Given the description of an element on the screen output the (x, y) to click on. 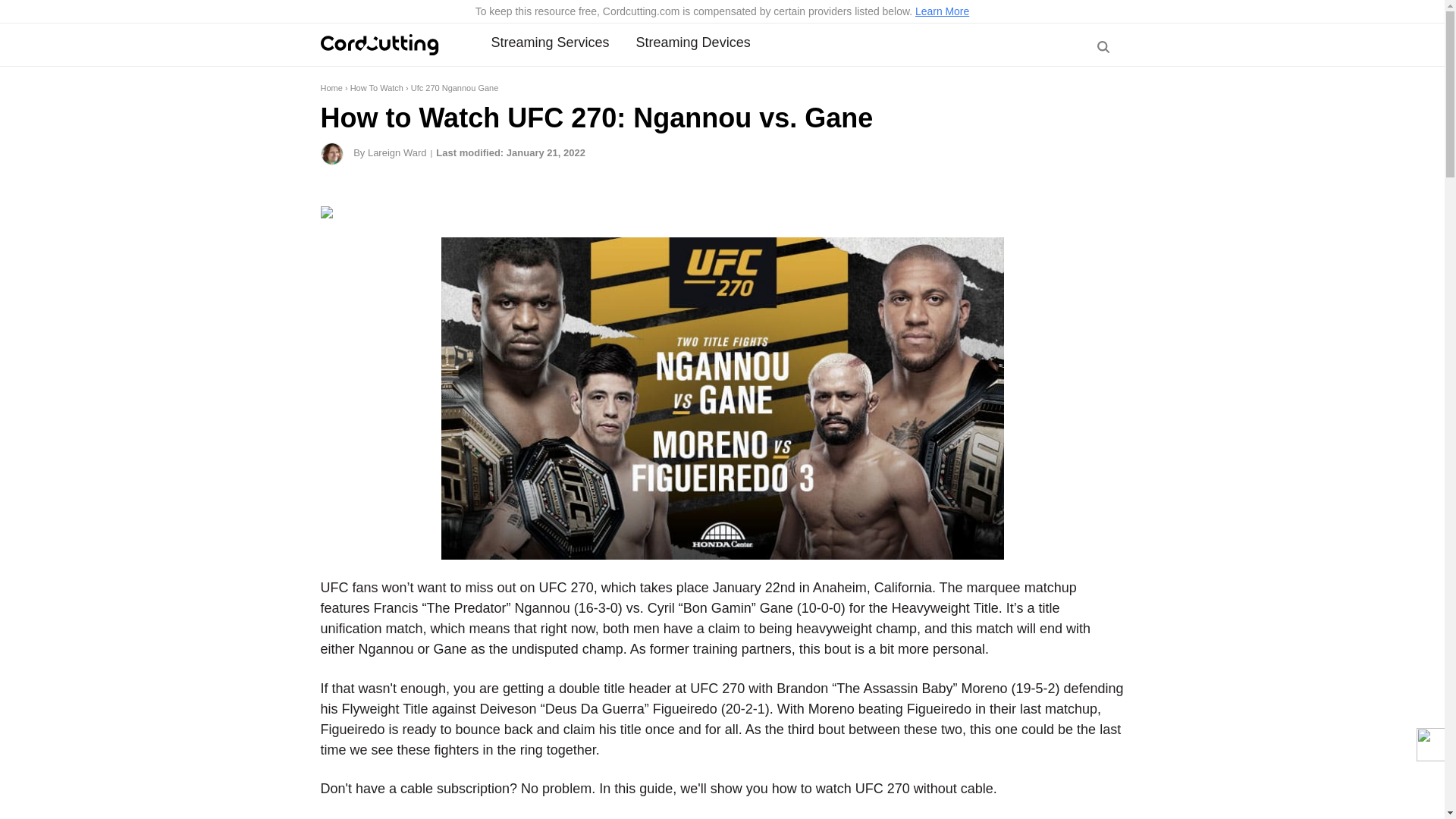
Learn More (942, 10)
How To Watch (376, 87)
Streaming Services (551, 42)
Home (331, 87)
Streaming Devices (693, 42)
Search (1101, 85)
